Given the description of an element on the screen output the (x, y) to click on. 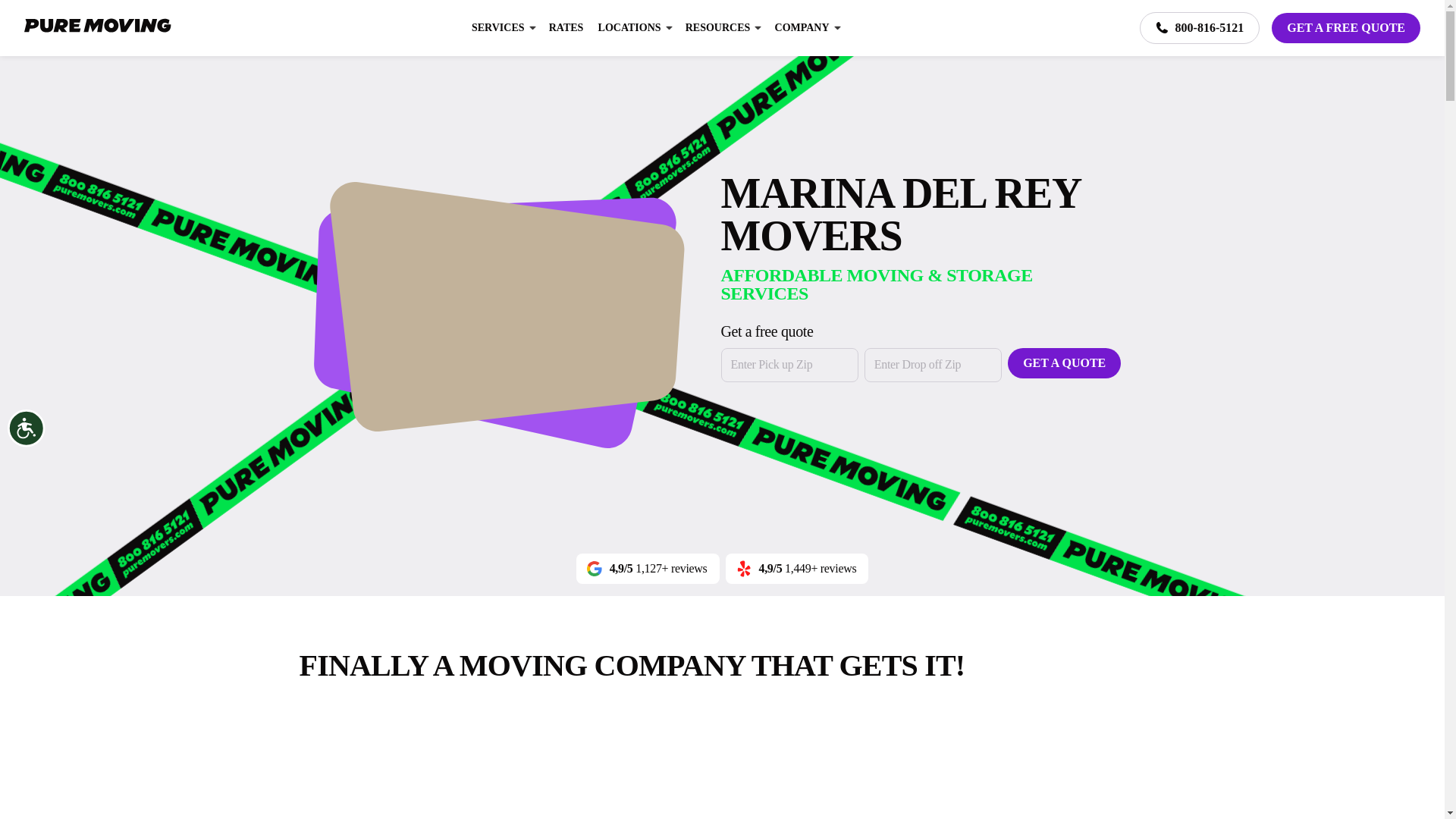
Accessibility (41, 443)
SERVICES (497, 28)
COMPANY (801, 28)
LOCATIONS (629, 28)
RESOURCES (718, 28)
RATES (565, 28)
